Given the description of an element on the screen output the (x, y) to click on. 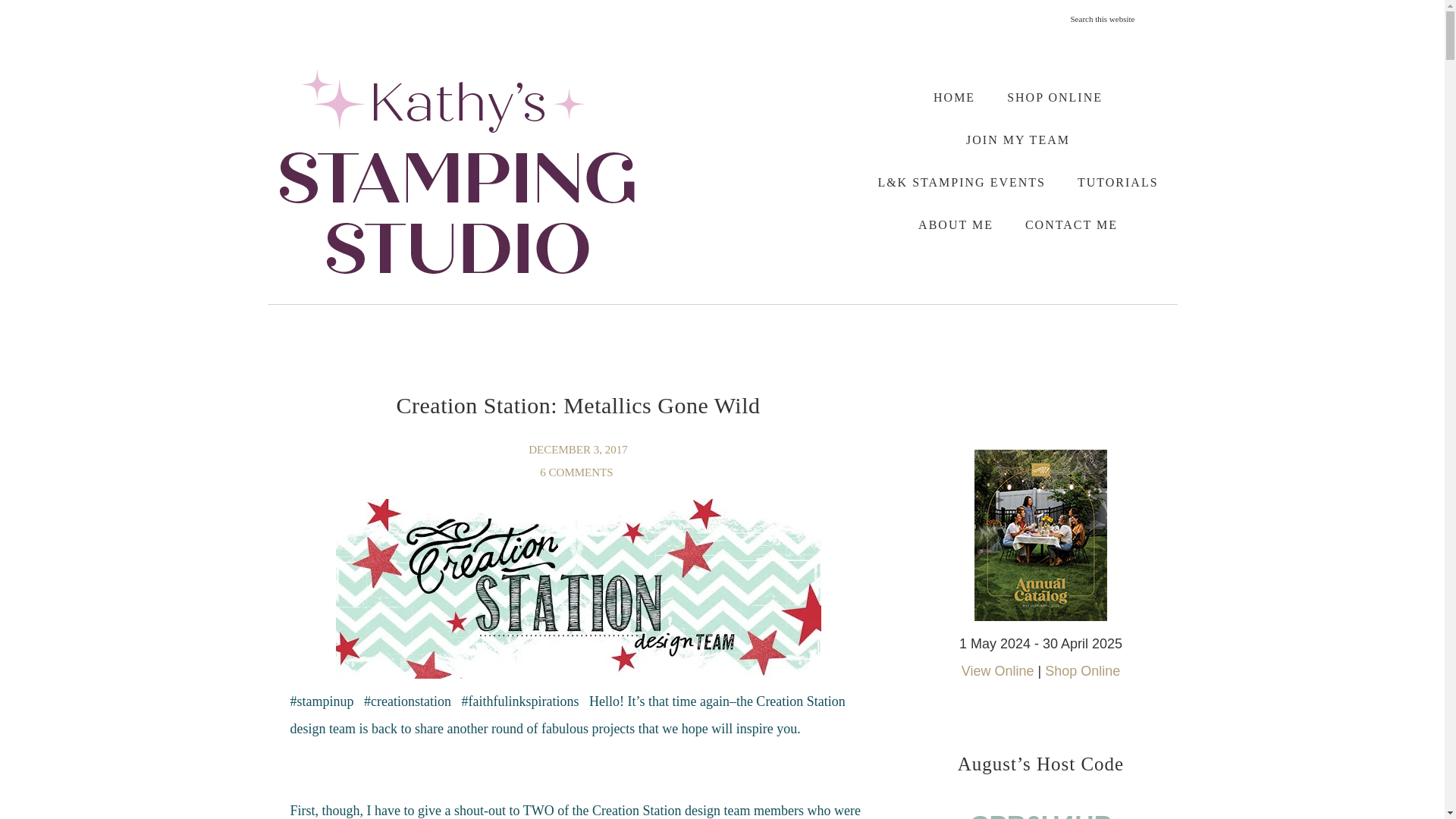
HOME (954, 97)
6 COMMENTS (577, 472)
CONTACT ME (1071, 224)
JOIN MY TEAM (1017, 139)
TUTORIALS (1118, 182)
KATHYS STAMPING STUDIO (456, 171)
ABOUT ME (955, 224)
SHOP ONLINE (1054, 97)
